Given the description of an element on the screen output the (x, y) to click on. 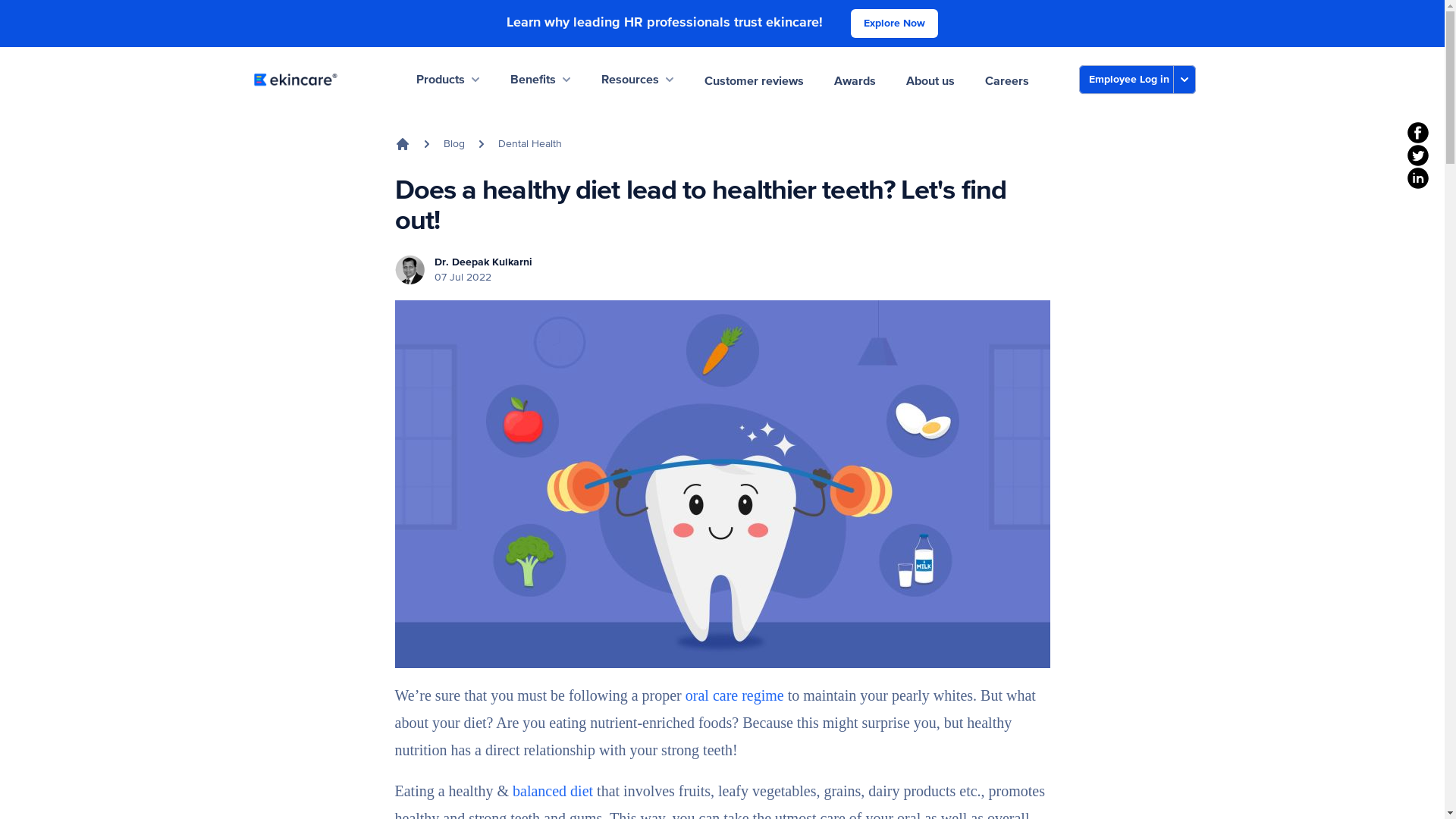
Products (446, 79)
Customer reviews (753, 79)
About us (929, 79)
Explore Now (893, 23)
Share on LinkedIn (1417, 178)
Workflow (293, 79)
Benefits (539, 79)
Employee Log in (1125, 79)
Resources (635, 79)
Awards (855, 79)
